Given the description of an element on the screen output the (x, y) to click on. 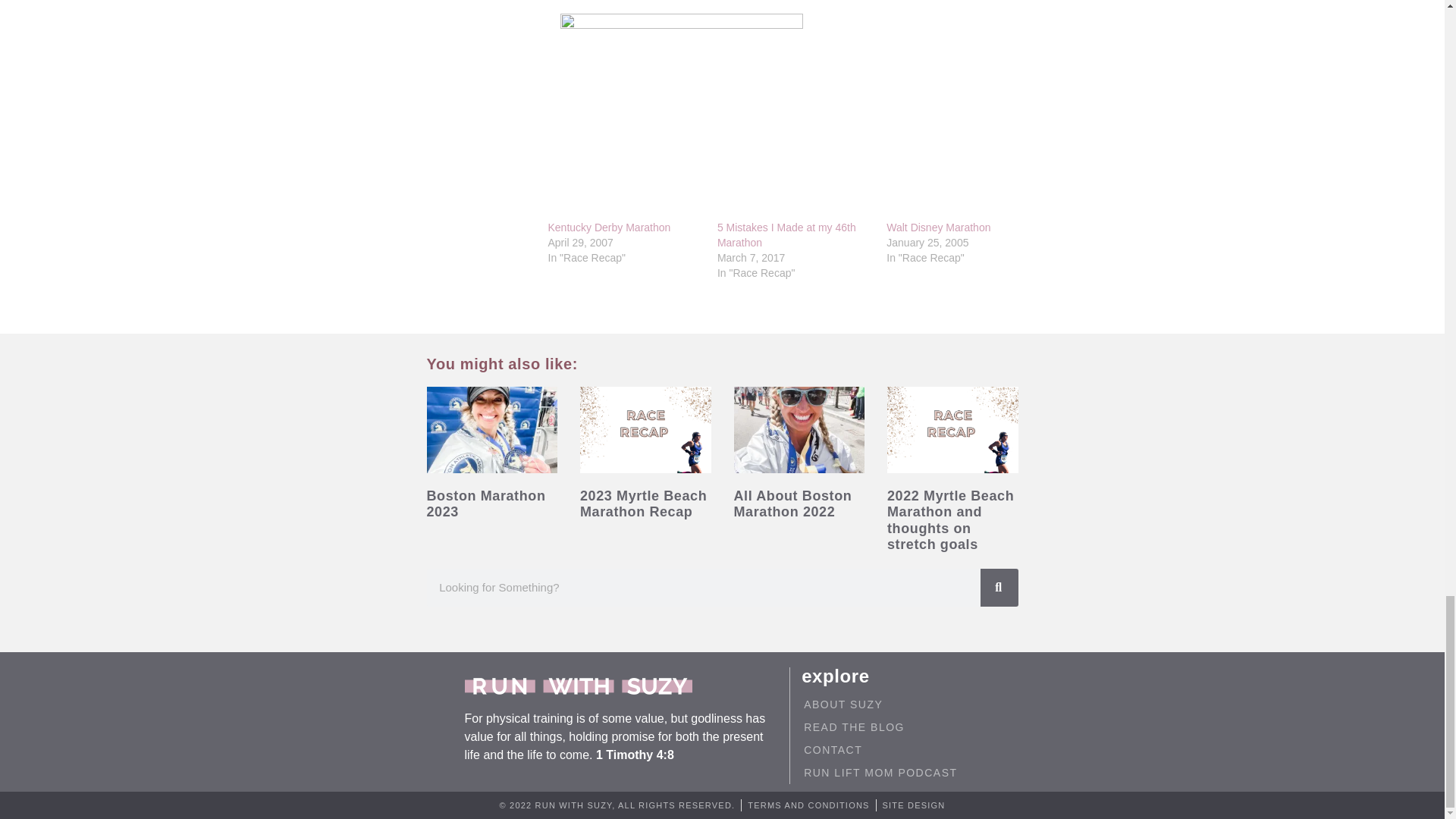
5 Mistakes I Made at my 46th Marathon (786, 234)
Walt Disney Marathon (938, 227)
Kentucky Derby Marathon (608, 227)
